Given the description of an element on the screen output the (x, y) to click on. 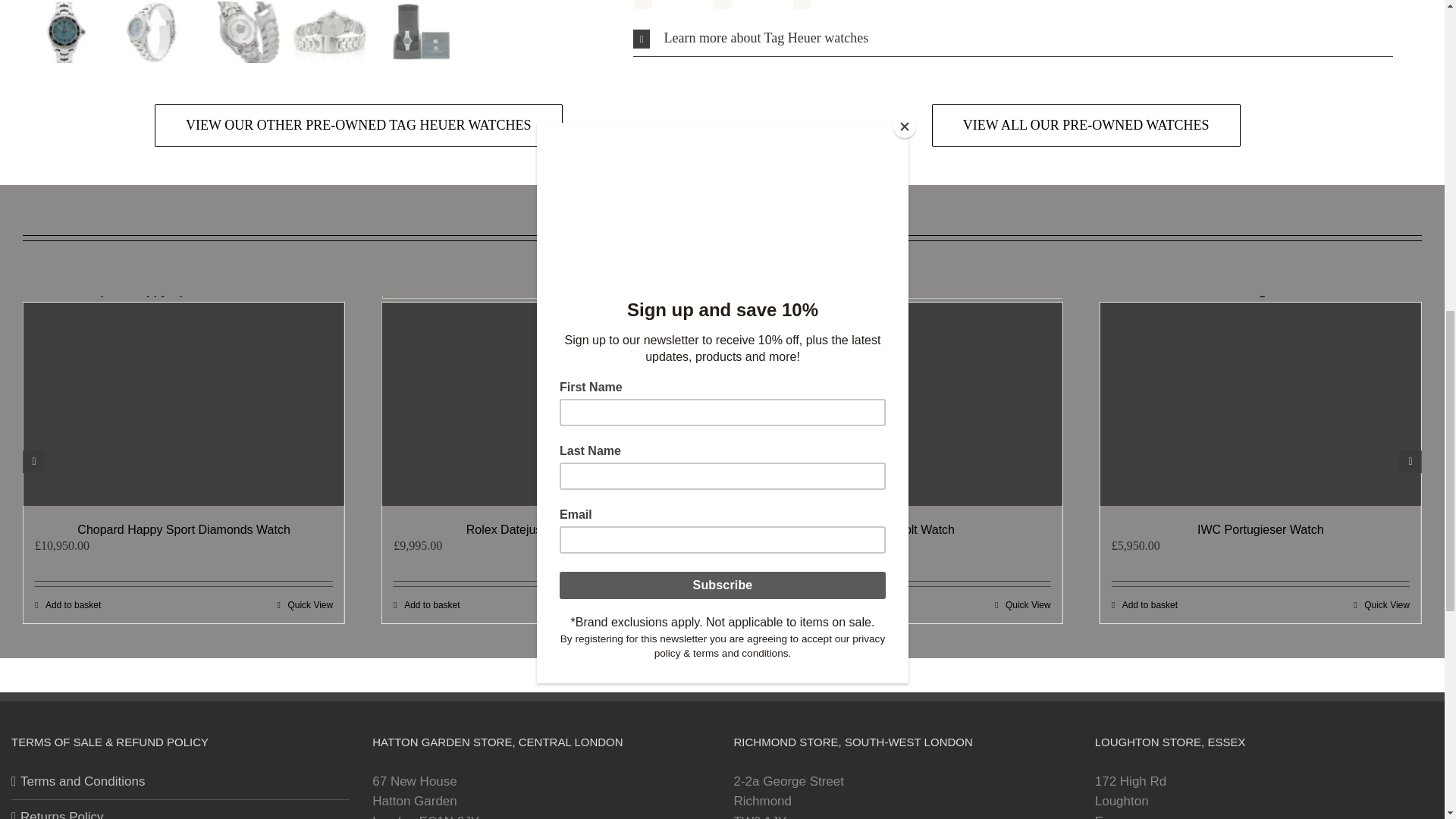
Learn more about Tag Heuer watches (1013, 39)
Tweet (742, 6)
Email (820, 6)
Share (662, 6)
